Given the description of an element on the screen output the (x, y) to click on. 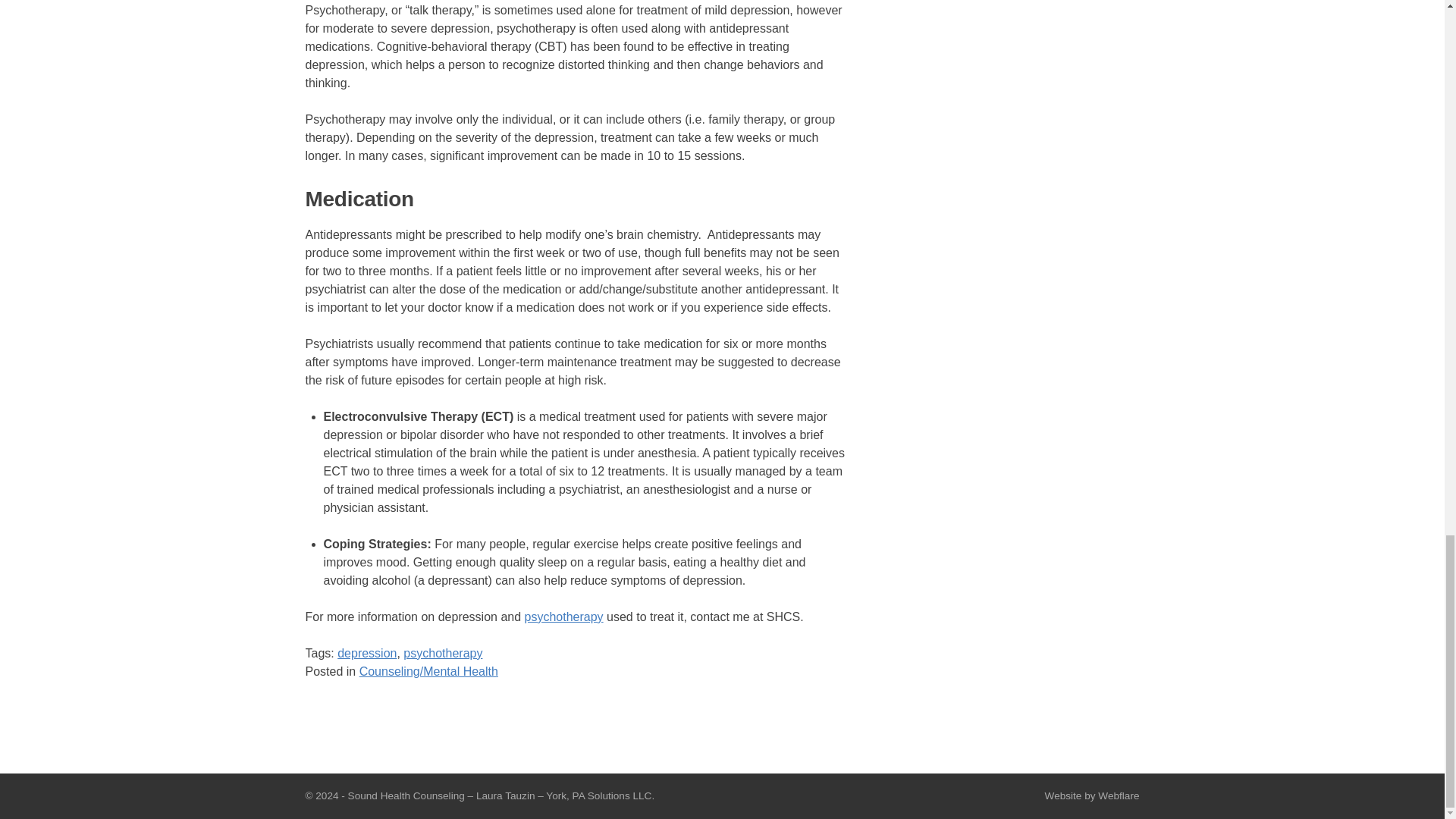
depression (366, 653)
psychotherapy (564, 616)
Webflare (1117, 795)
psychotherapy (442, 653)
